Given the description of an element on the screen output the (x, y) to click on. 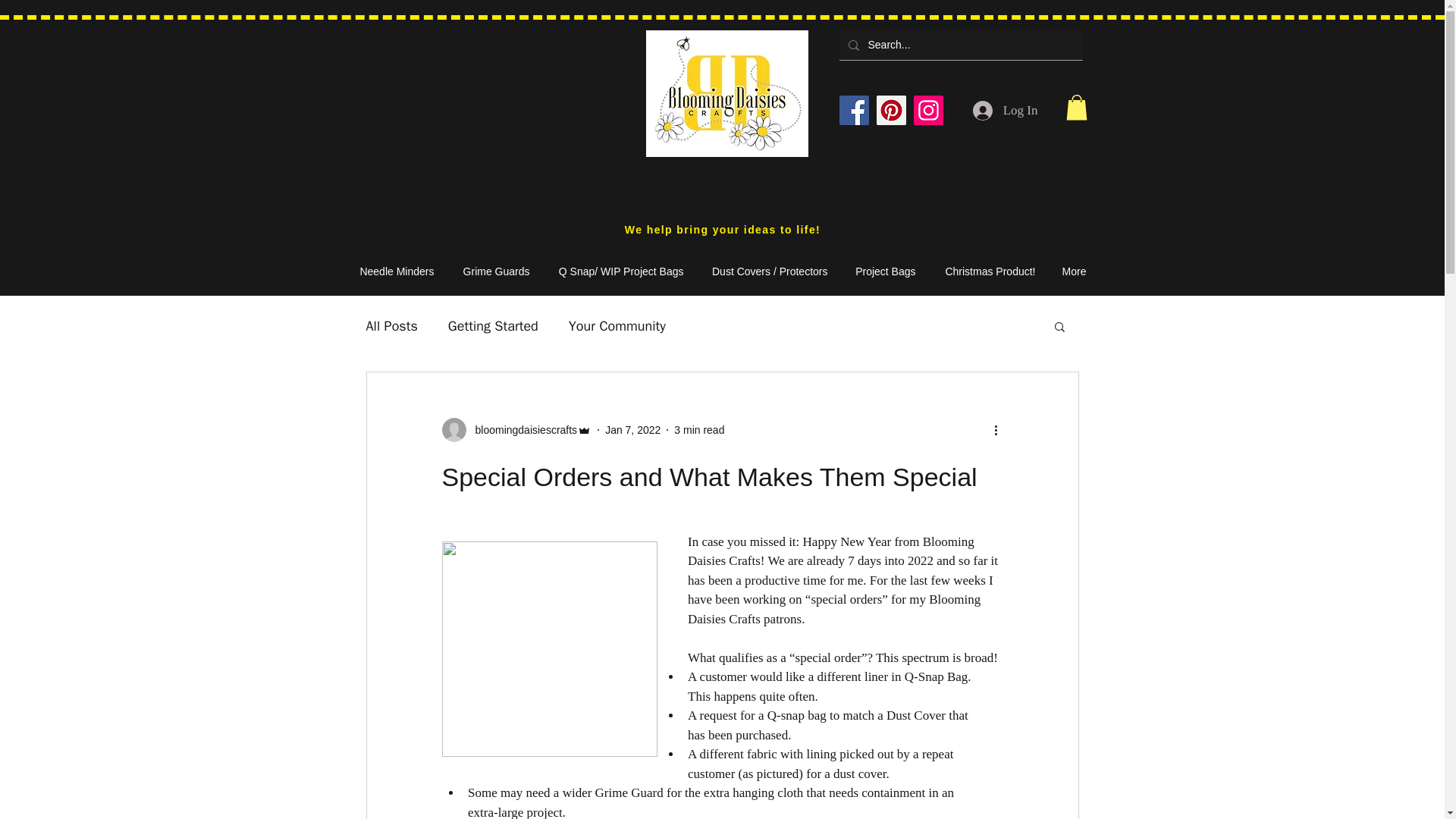
Project Bags (879, 271)
bloomingdaisiescrafts (516, 429)
All Posts (390, 325)
bloomingdaisiescrafts (520, 429)
Getting Started (493, 325)
3 min read (698, 428)
Jan 7, 2022 (633, 428)
Grime Guards (489, 271)
Your Community (617, 325)
Log In (1005, 109)
